Given the description of an element on the screen output the (x, y) to click on. 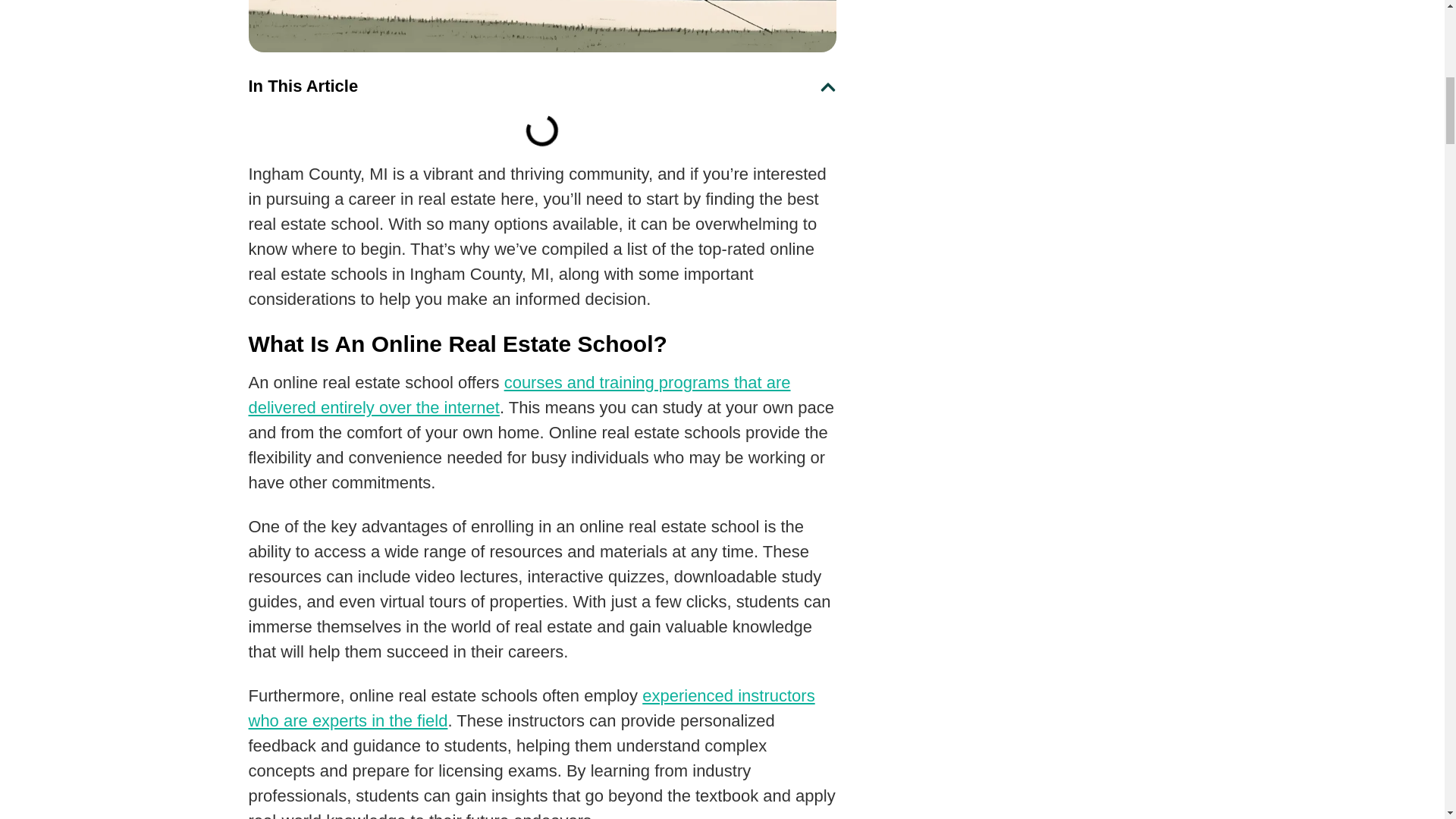
experienced instructors who are experts in the field (531, 708)
